Given the description of an element on the screen output the (x, y) to click on. 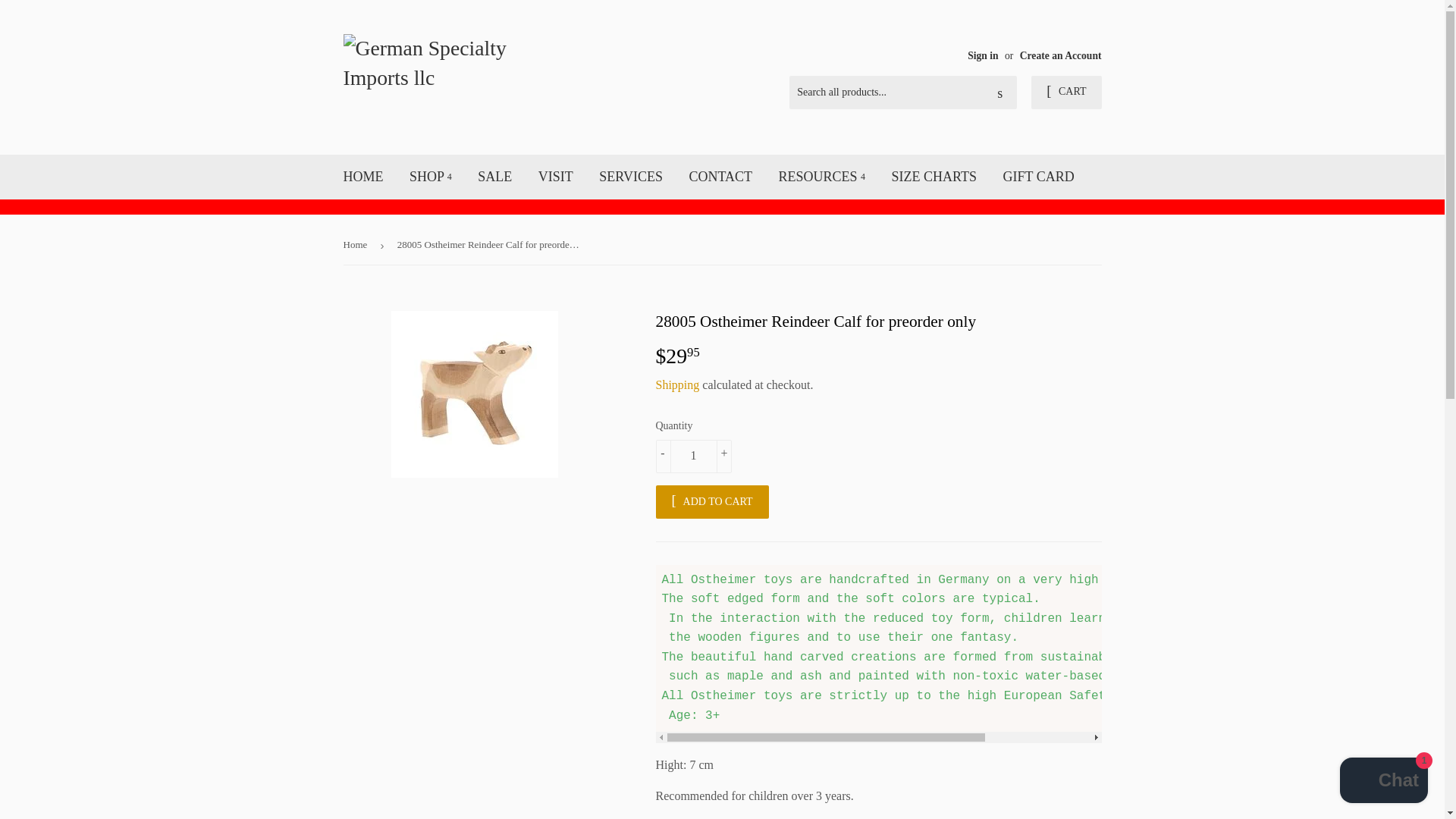
Search (999, 92)
Sign in (982, 55)
Create an Account (1061, 55)
Shopify online store chat (1383, 781)
1 (692, 456)
CART (1065, 92)
Back to the frontpage (357, 245)
